Given the description of an element on the screen output the (x, y) to click on. 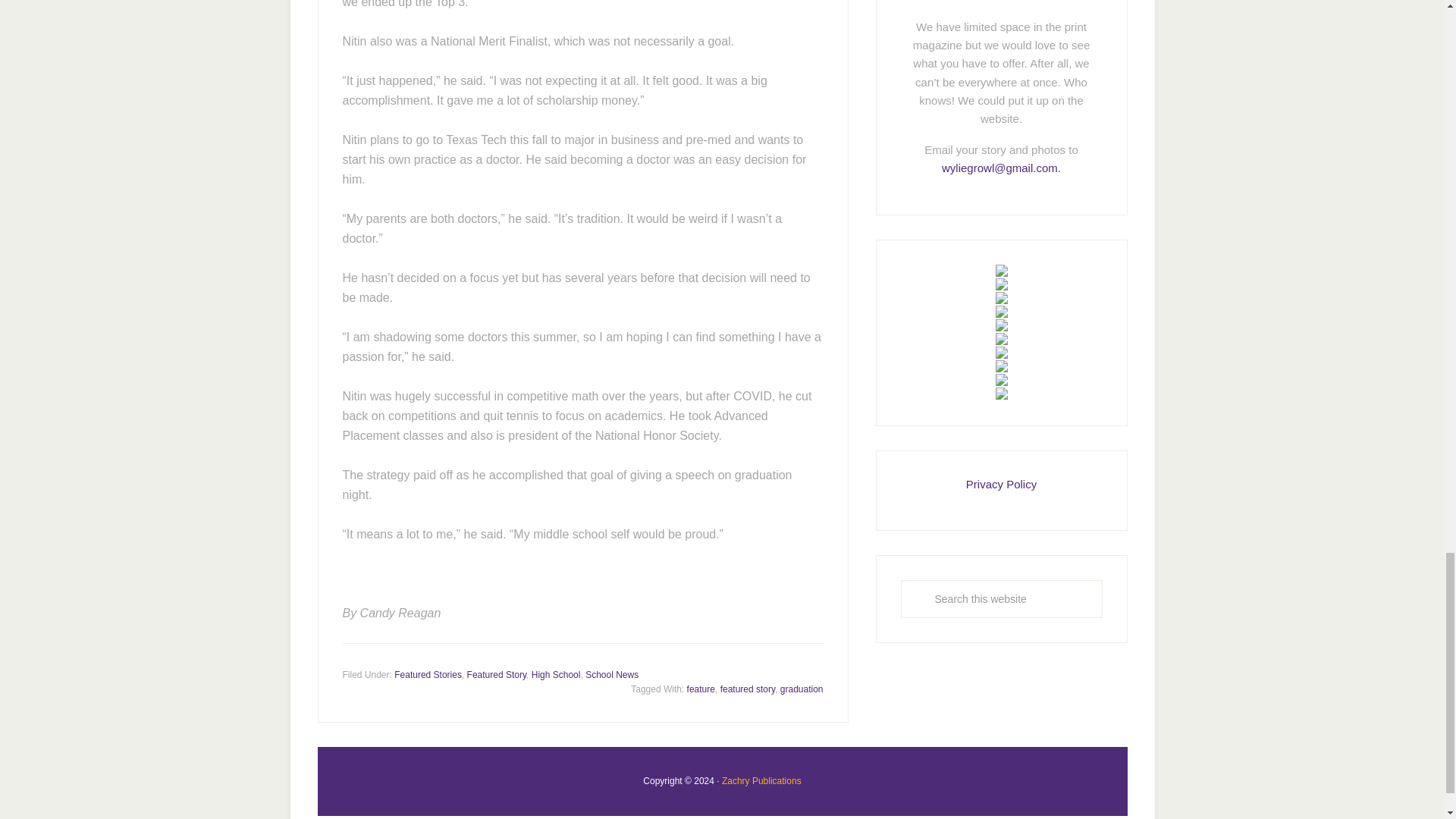
Privacy Policy (1001, 483)
